Given the description of an element on the screen output the (x, y) to click on. 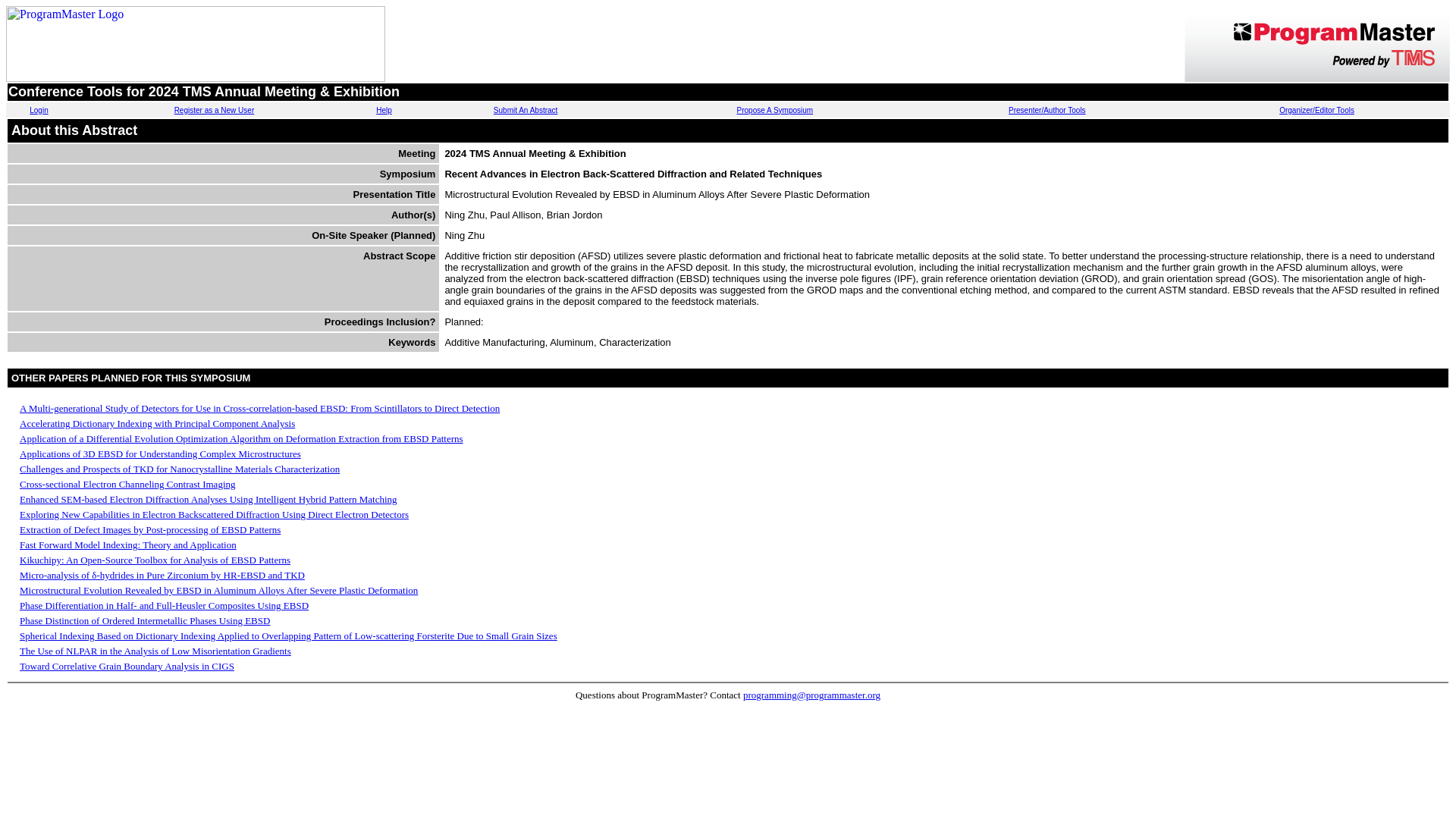
Toward Correlative Grain Boundary Analysis in CIGS (127, 665)
Cross-sectional Electron Channeling Contrast Imaging (127, 483)
Submit An Abstract (525, 110)
Help (383, 110)
Phase Distinction of Ordered Intermetallic Phases Using EBSD (144, 620)
Propose A Symposium (774, 110)
